Given the description of an element on the screen output the (x, y) to click on. 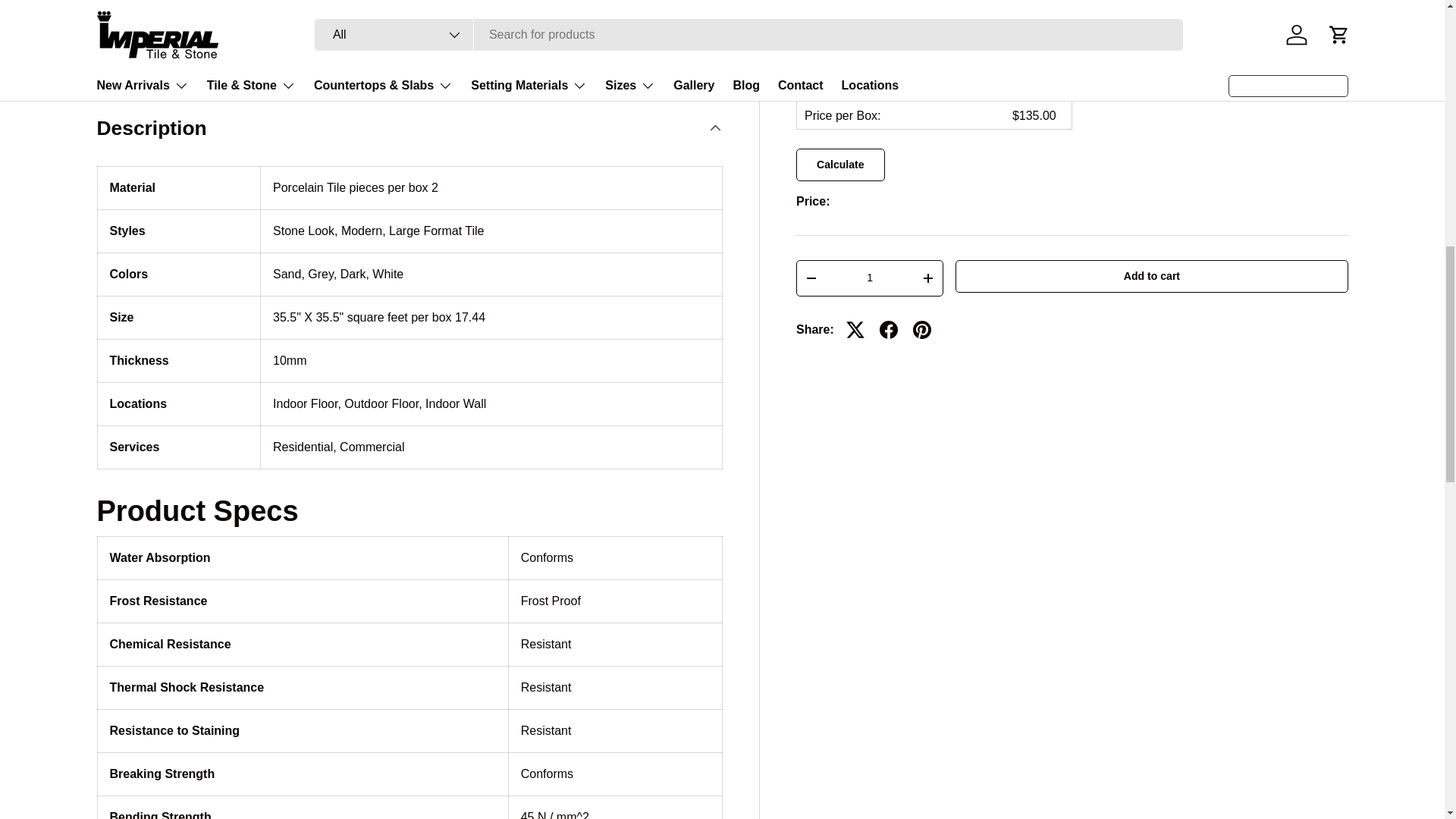
1 (869, 277)
Pin on Pinterest (922, 329)
Tweet on X (855, 329)
Share on Facebook (888, 329)
